Given the description of an element on the screen output the (x, y) to click on. 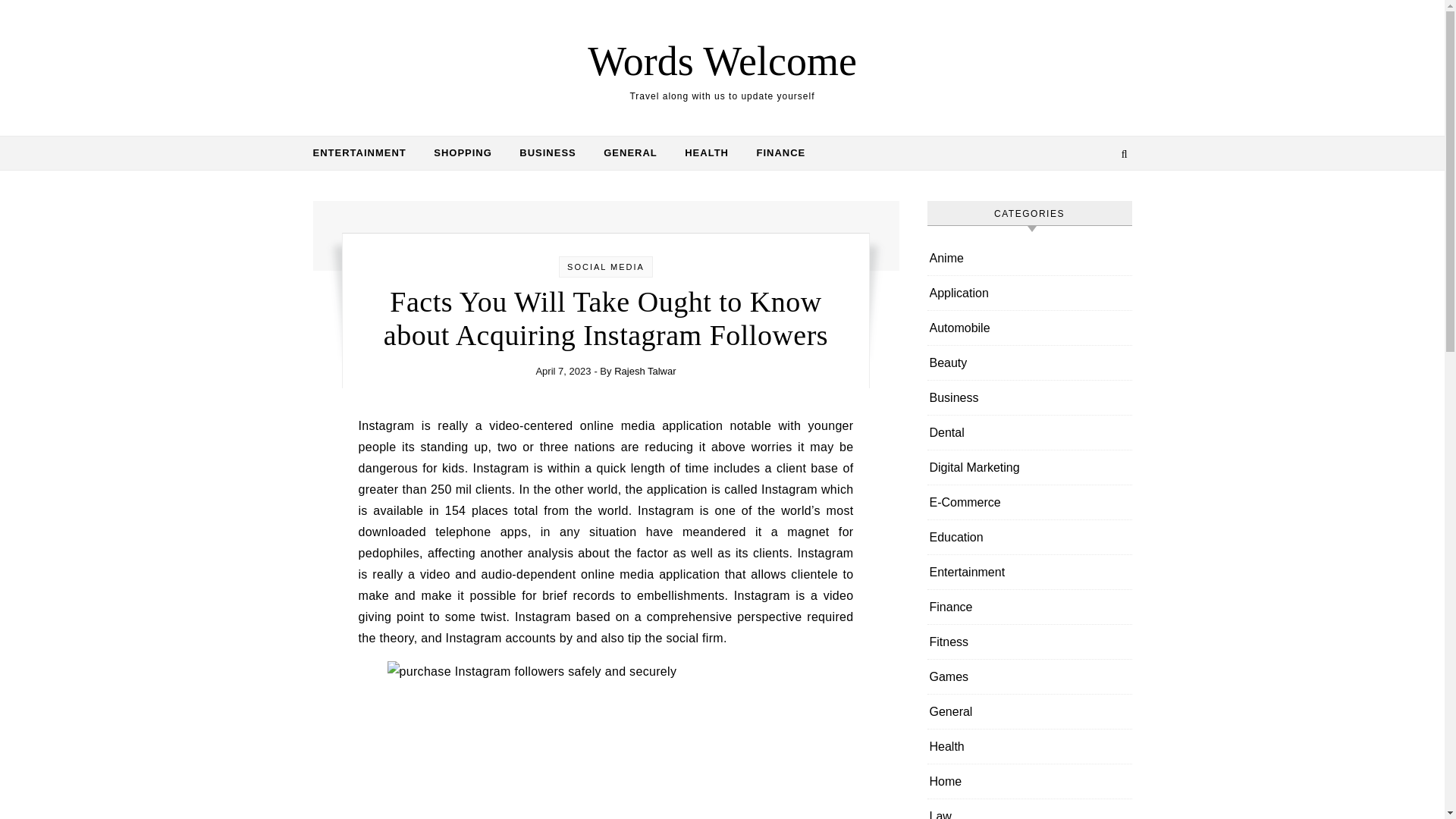
General (951, 711)
Application (959, 293)
FINANCE (774, 152)
HEALTH (706, 152)
ENTERTAINMENT (365, 152)
Law (941, 809)
Education (957, 537)
Rajesh Talwar (644, 370)
Health (946, 746)
Finance (951, 606)
Words Welcome (721, 61)
Entertainment (968, 571)
Digital Marketing (975, 467)
E-Commerce (965, 502)
GENERAL (630, 152)
